Given the description of an element on the screen output the (x, y) to click on. 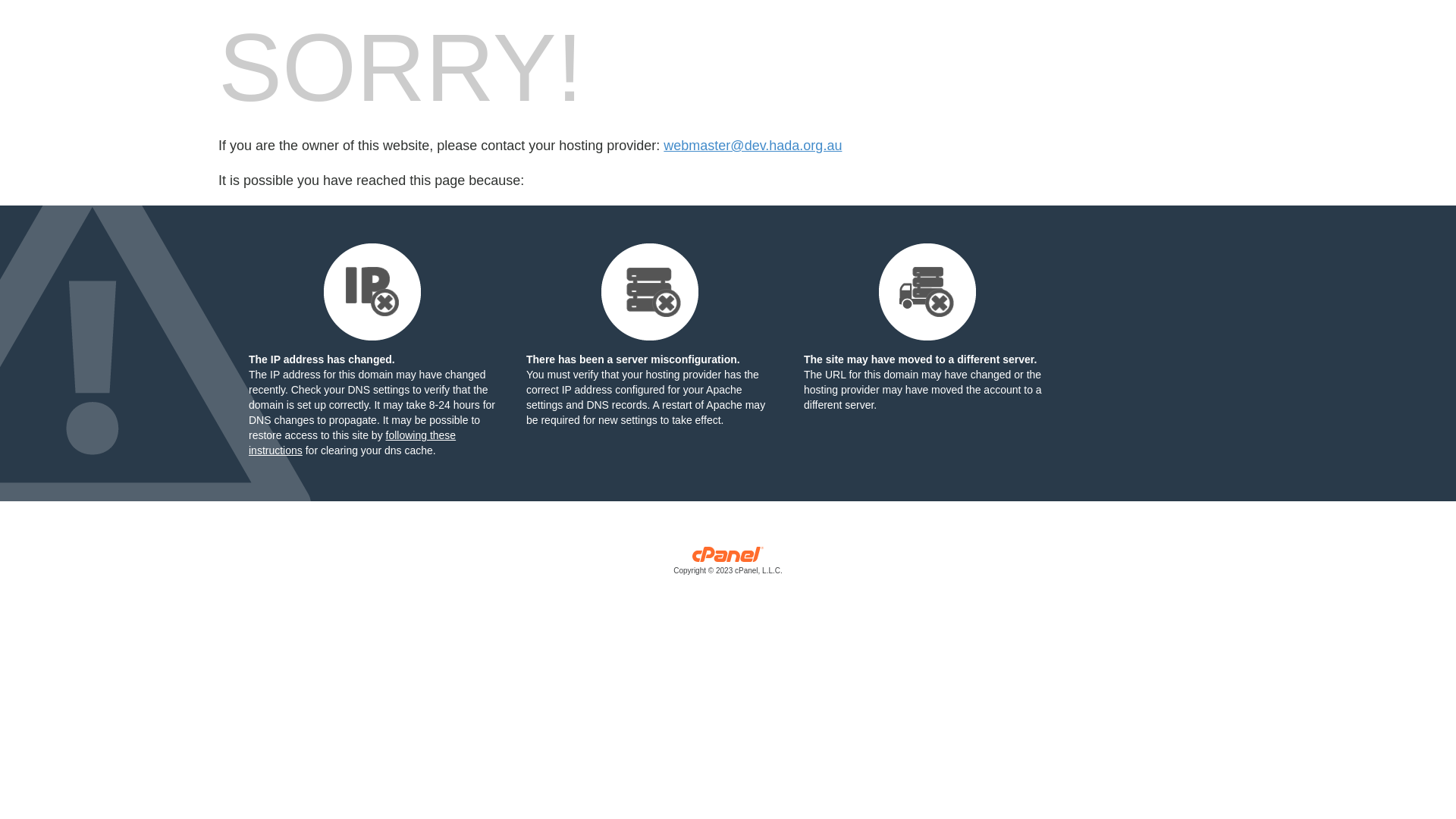
following these instructions Element type: text (351, 442)
webmaster@dev.hada.org.au Element type: text (752, 145)
